Given the description of an element on the screen output the (x, y) to click on. 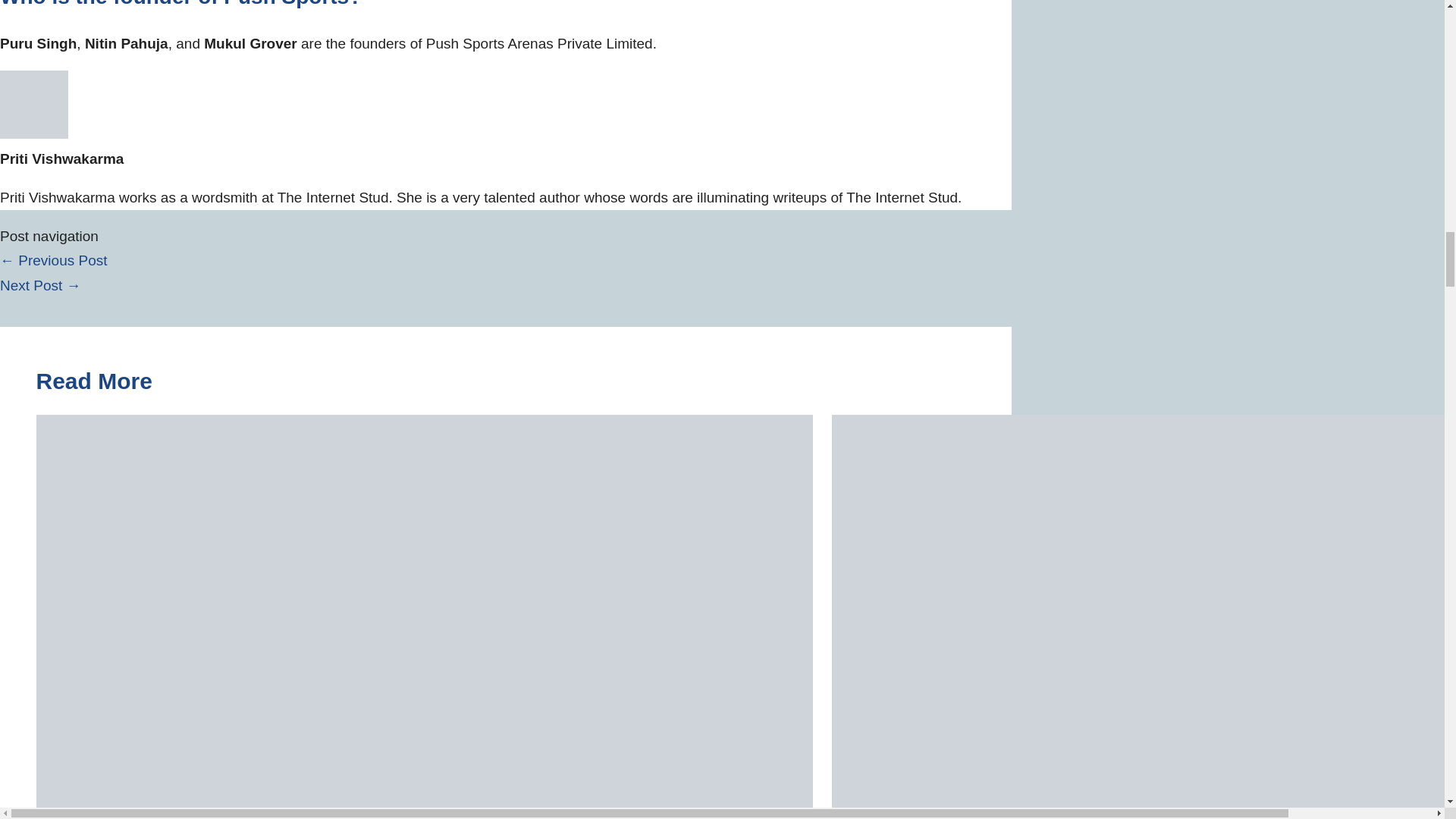
ORBO Shark Tank India Season 3 - AI Beauty Tech Solution (40, 285)
Toffee Coffee Roasters Shark Tank India Season 3 (53, 260)
